Given the description of an element on the screen output the (x, y) to click on. 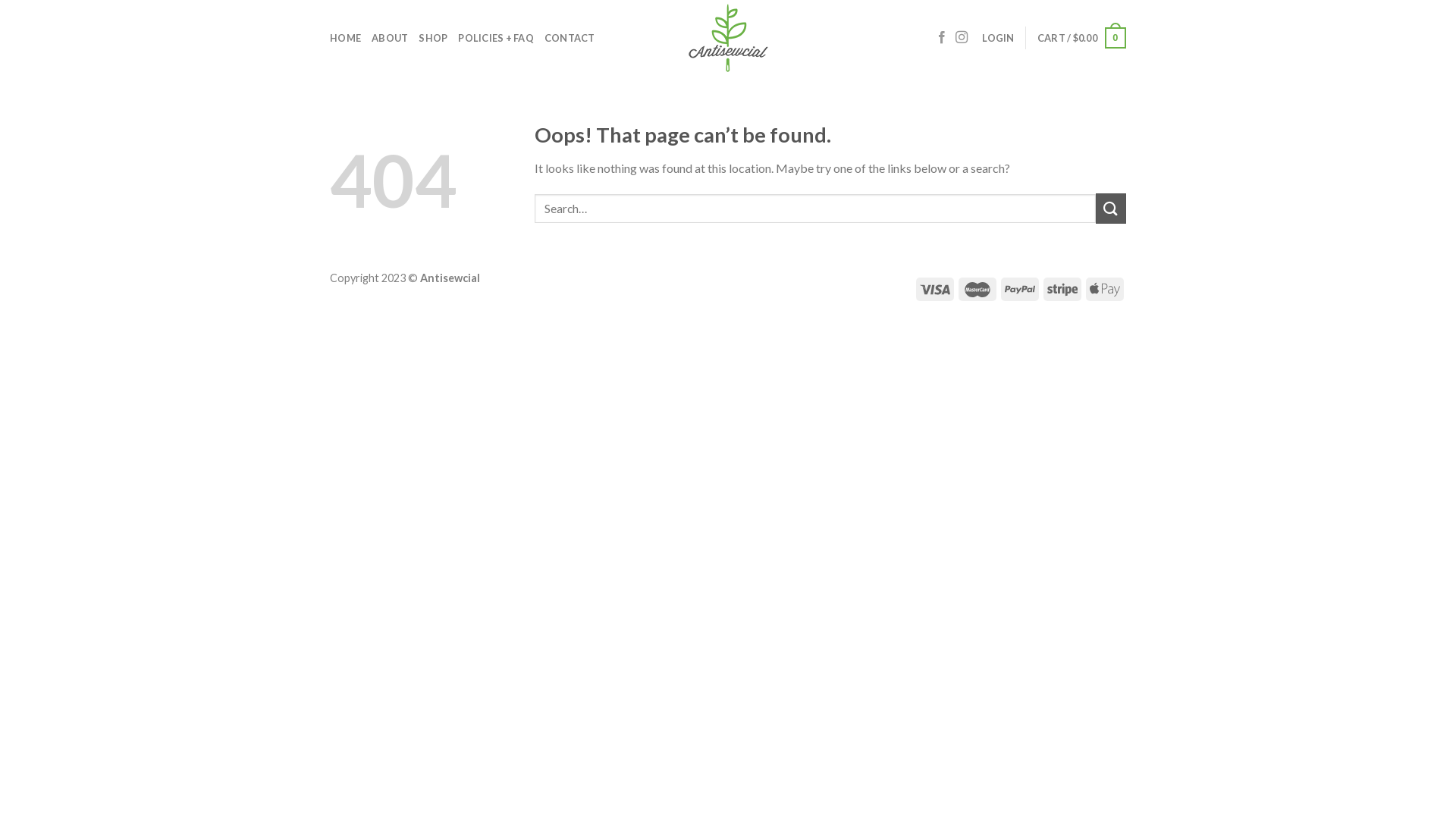
ABOUT Element type: text (389, 37)
HOME Element type: text (344, 37)
CONTACT Element type: text (569, 37)
SHOP Element type: text (432, 37)
POLICIES + FAQ Element type: text (495, 37)
Follow on Instagram Element type: hover (961, 37)
Follow on Facebook Element type: hover (941, 37)
CART / $0.00
0 Element type: text (1081, 37)
LOGIN Element type: text (997, 37)
